Given the description of an element on the screen output the (x, y) to click on. 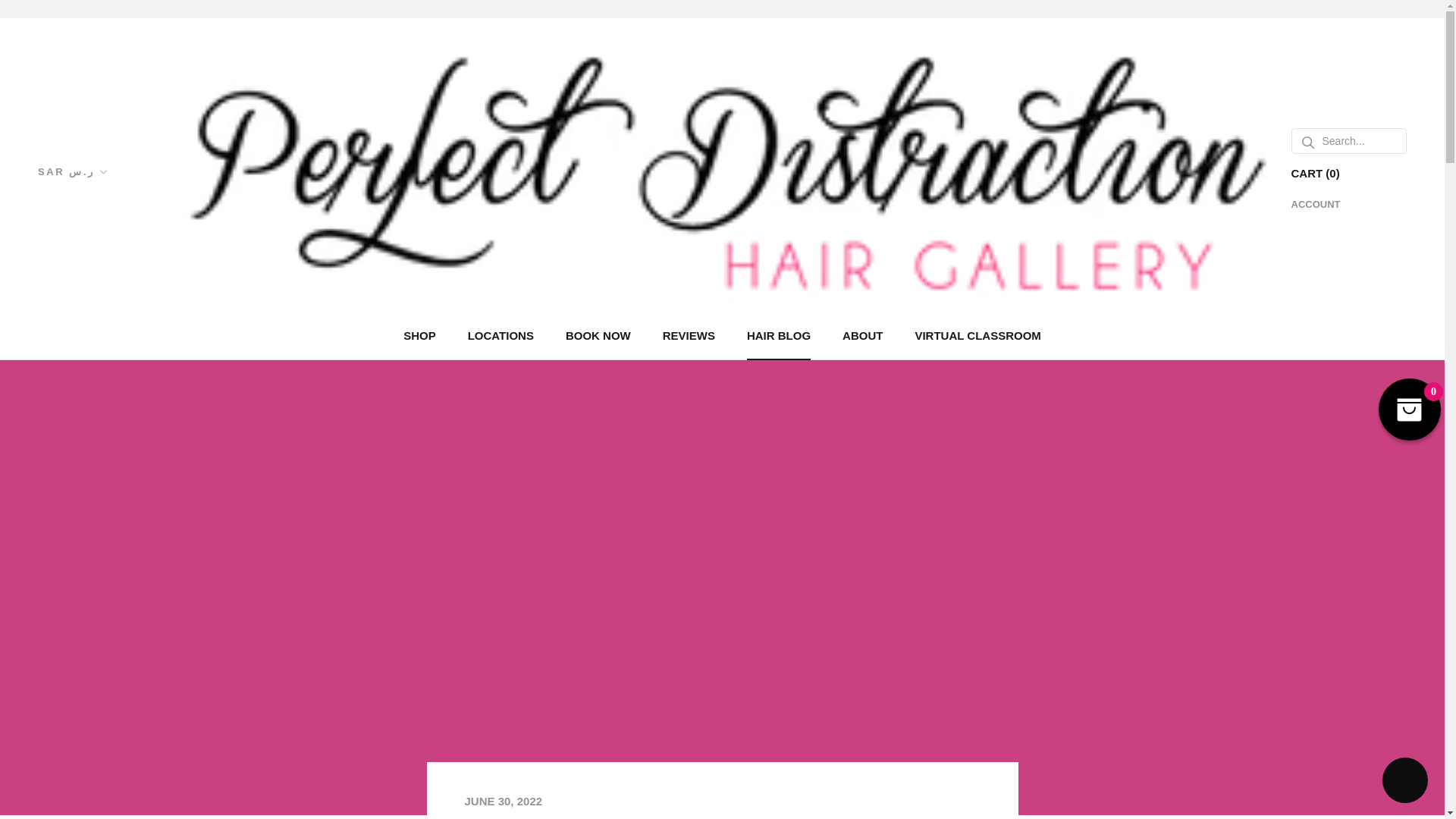
SHOP (419, 335)
REVIEWS (500, 335)
BOOK NOW (688, 335)
Shopify online store chat (598, 335)
